Given the description of an element on the screen output the (x, y) to click on. 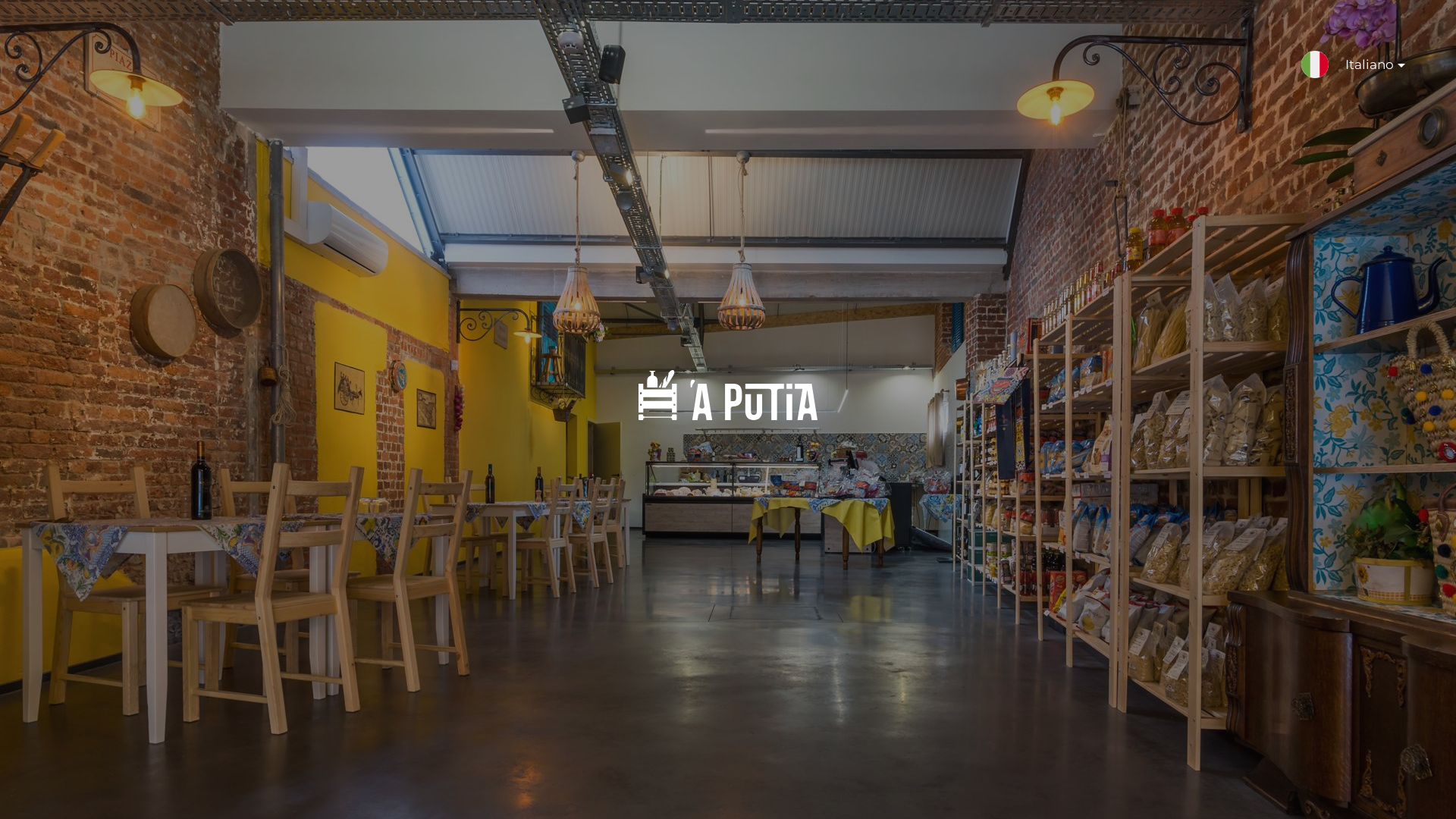
Italiano Element type: text (1368, 71)
